Given the description of an element on the screen output the (x, y) to click on. 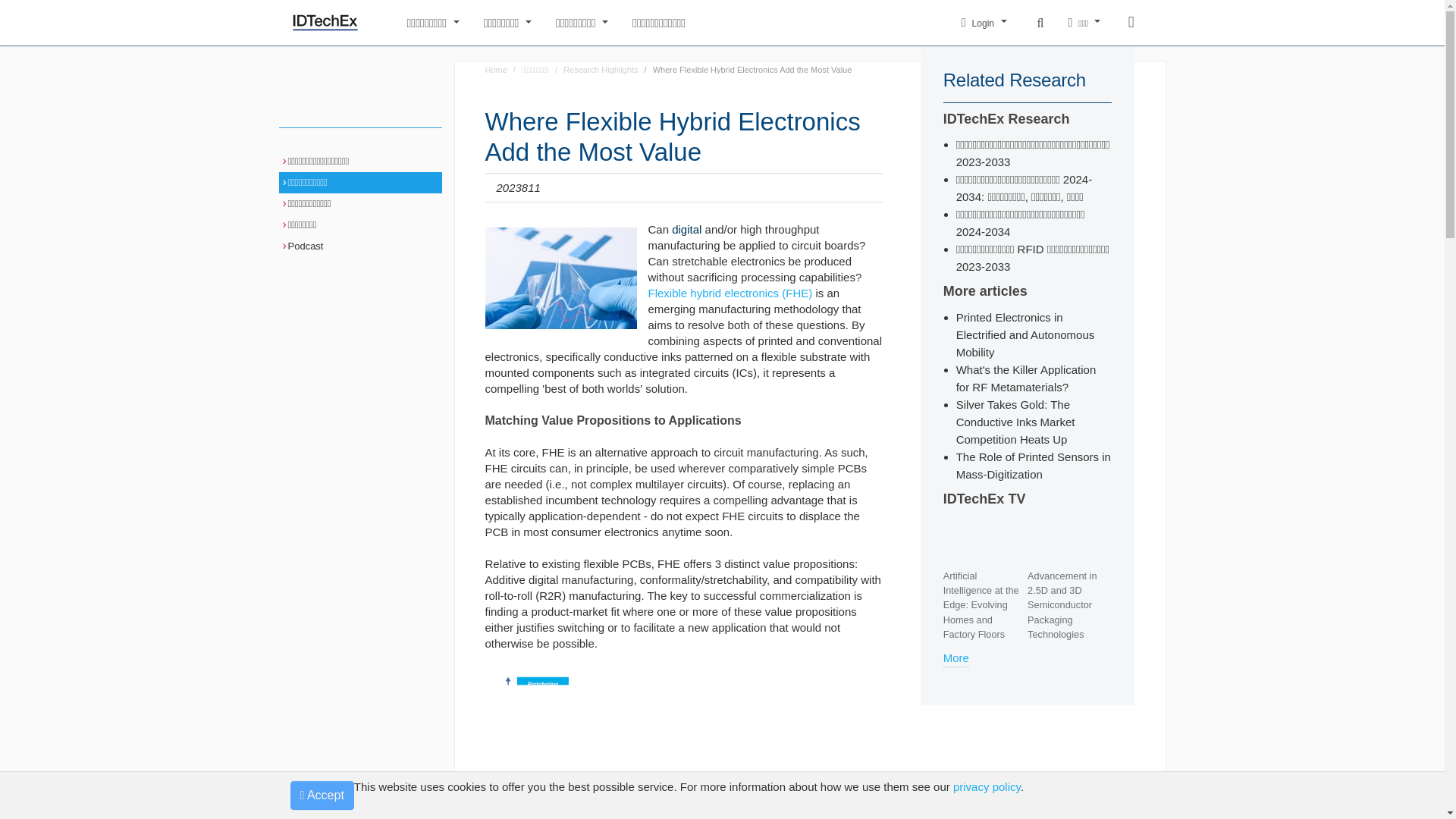
  Login (984, 22)
Accept (321, 795)
privacy policy (986, 786)
